Given the description of an element on the screen output the (x, y) to click on. 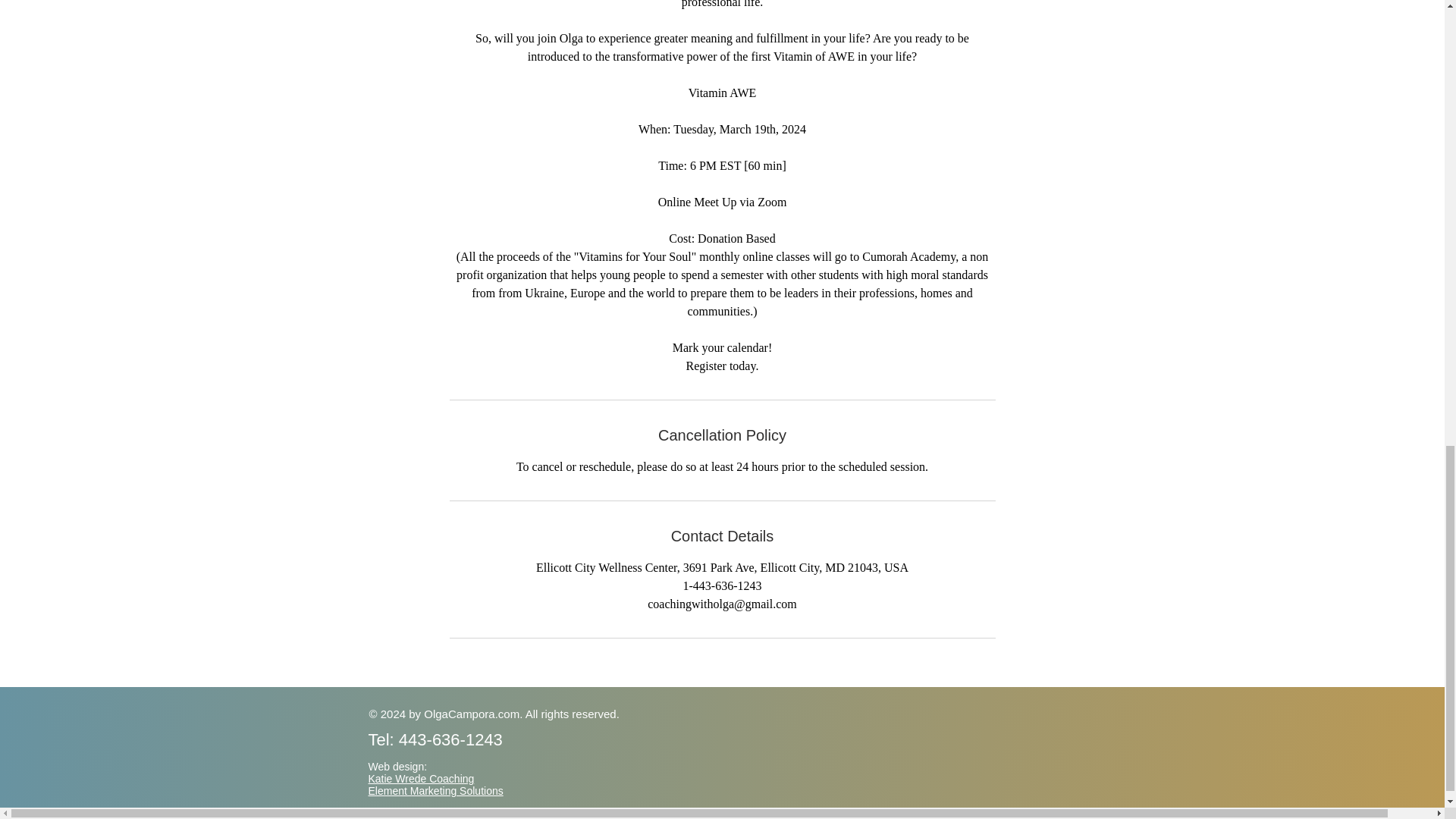
Element Marketing Solutions (435, 790)
Katie Wrede Coaching (421, 778)
